Given the description of an element on the screen output the (x, y) to click on. 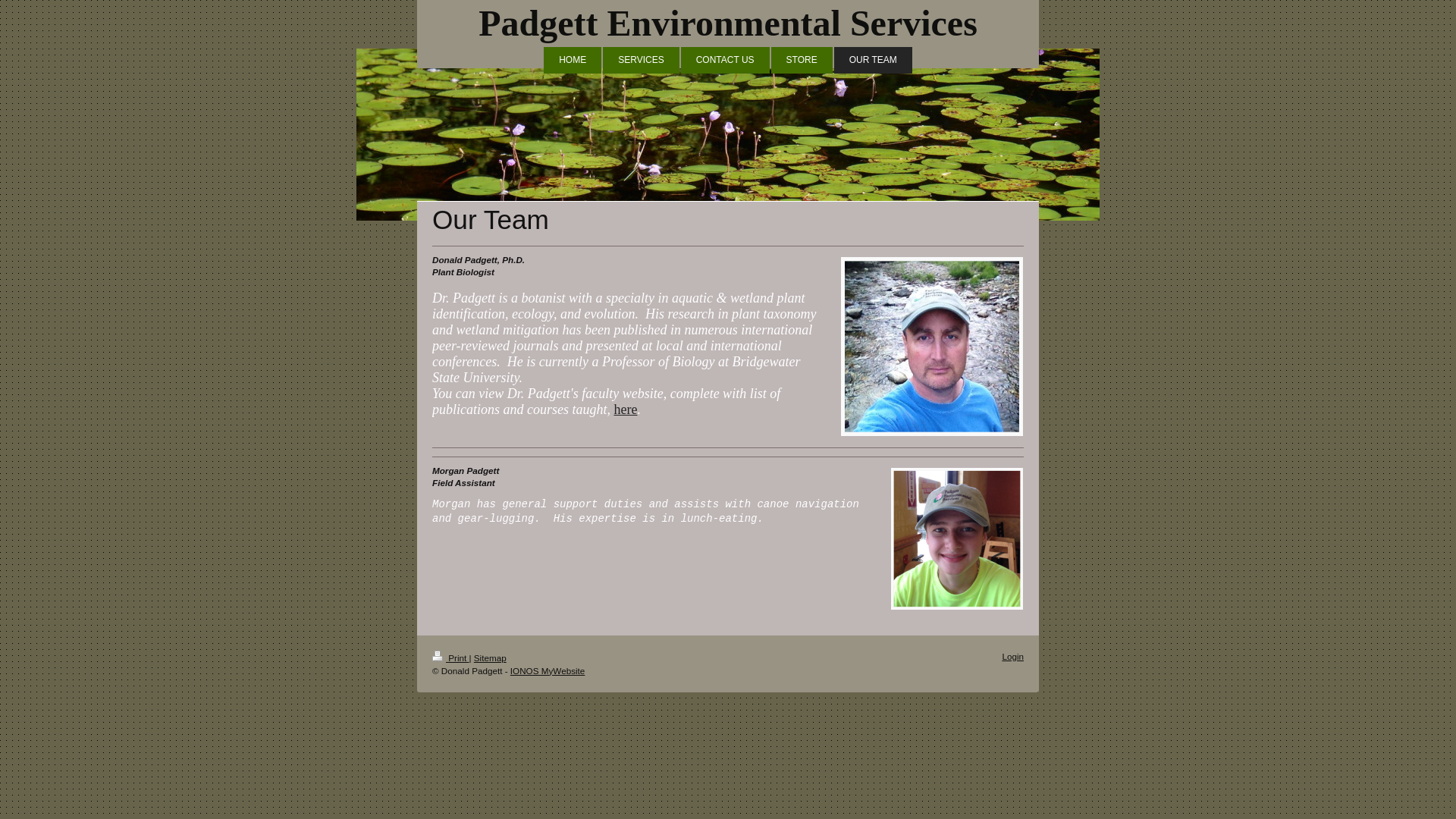
here (625, 409)
Print (450, 657)
IONOS MyWebsite (548, 670)
Login (1012, 655)
SERVICES (640, 59)
Sitemap (490, 657)
OUR TEAM (873, 59)
Padgett Environmental Services (727, 23)
HOME (572, 59)
STORE (801, 59)
CONTACT US (725, 59)
